Given the description of an element on the screen output the (x, y) to click on. 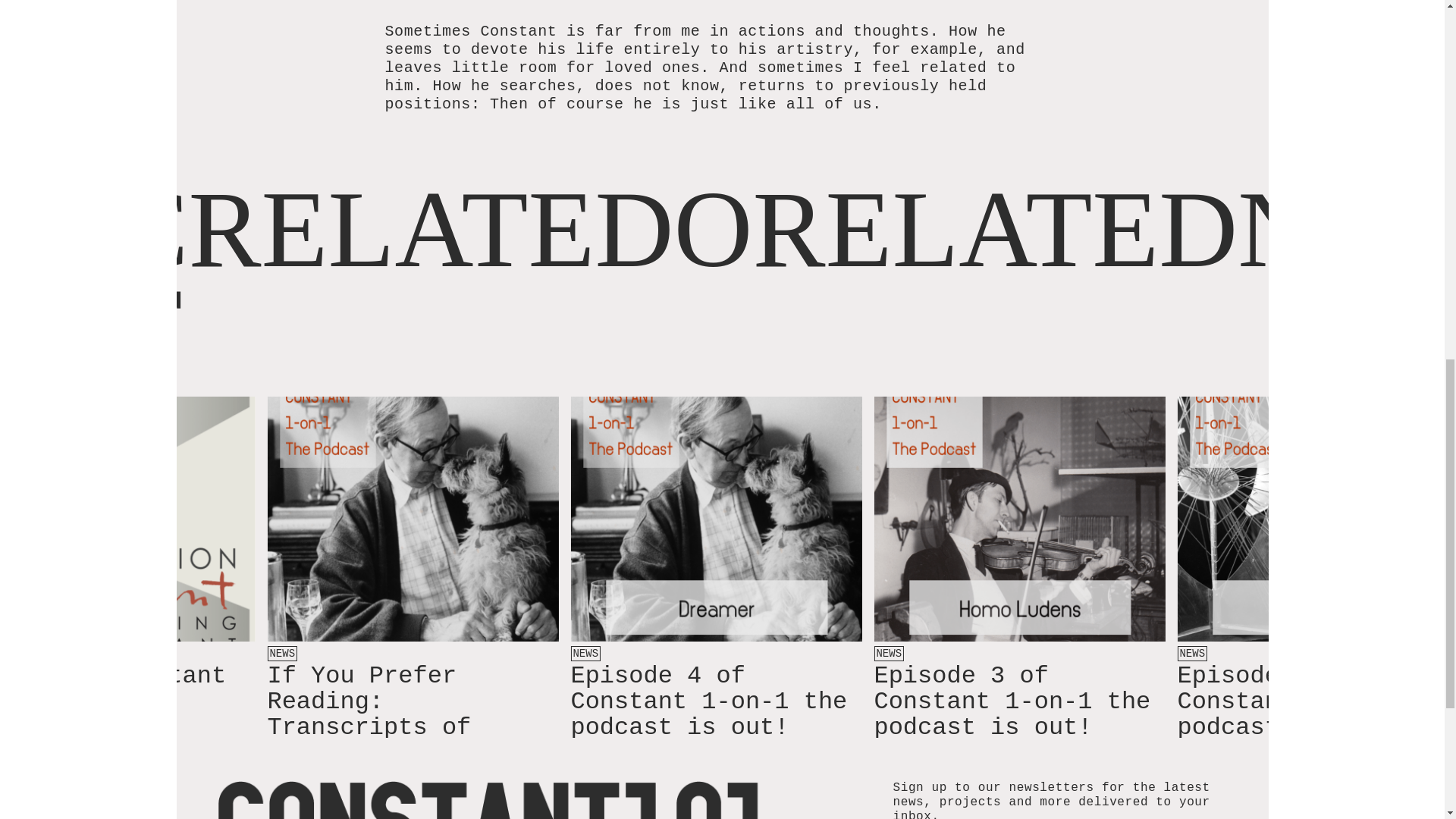
Episode 3 of Constant 1-on-1 the podcast is out! (1011, 701)
Episode 4 of Constant 1-on-1 the podcast is out! (708, 701)
